Given the description of an element on the screen output the (x, y) to click on. 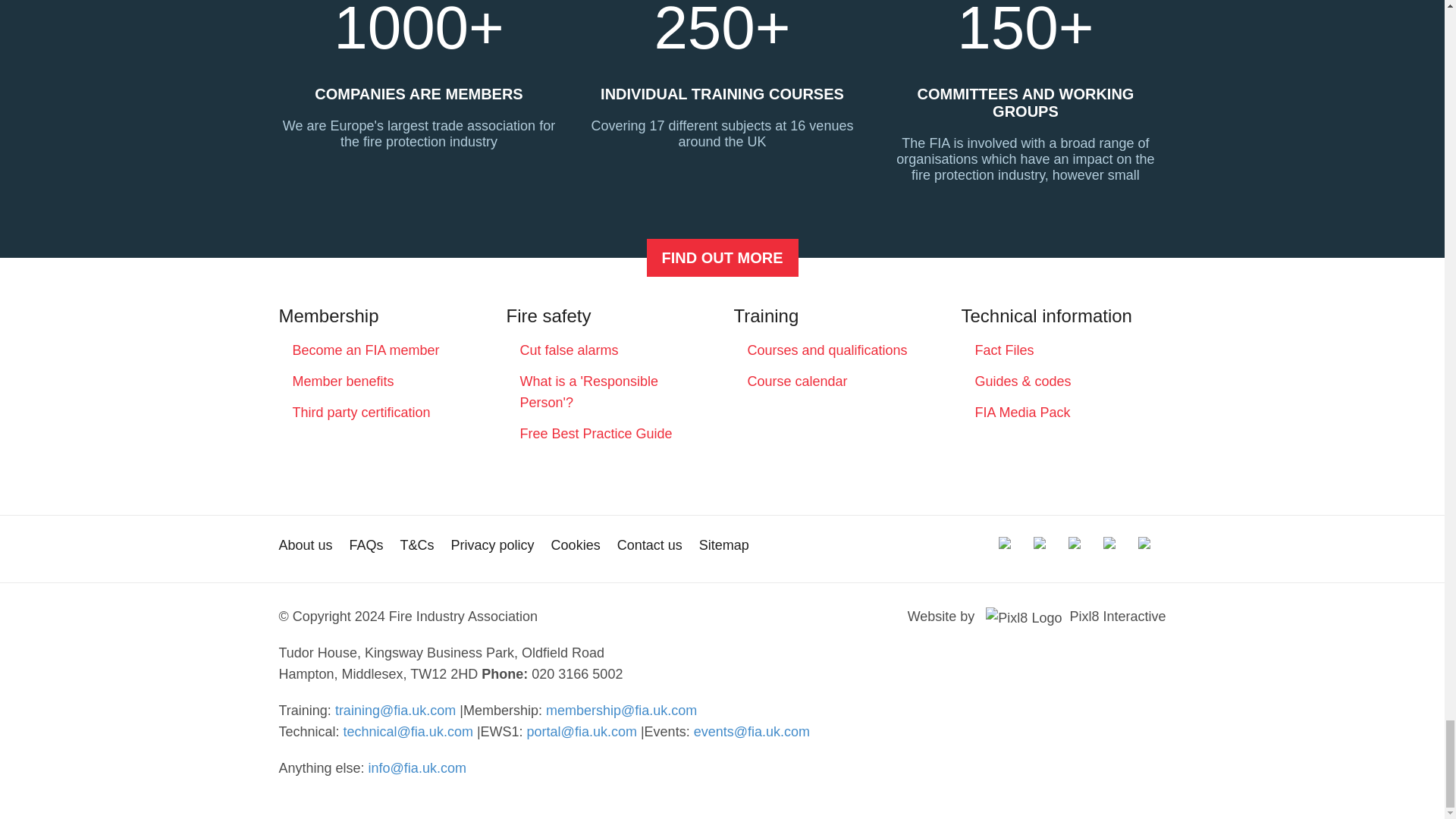
Third party certification (361, 412)
What is a 'Responsible Person'? (589, 391)
Cut false alarms (568, 350)
Cookies (575, 544)
Fact Files (1004, 350)
FAQs (366, 544)
FIA Media Pack (1022, 412)
Free Best Practice Guide (595, 433)
Become an FIA member (721, 257)
Sitemap (723, 544)
